Given the description of an element on the screen output the (x, y) to click on. 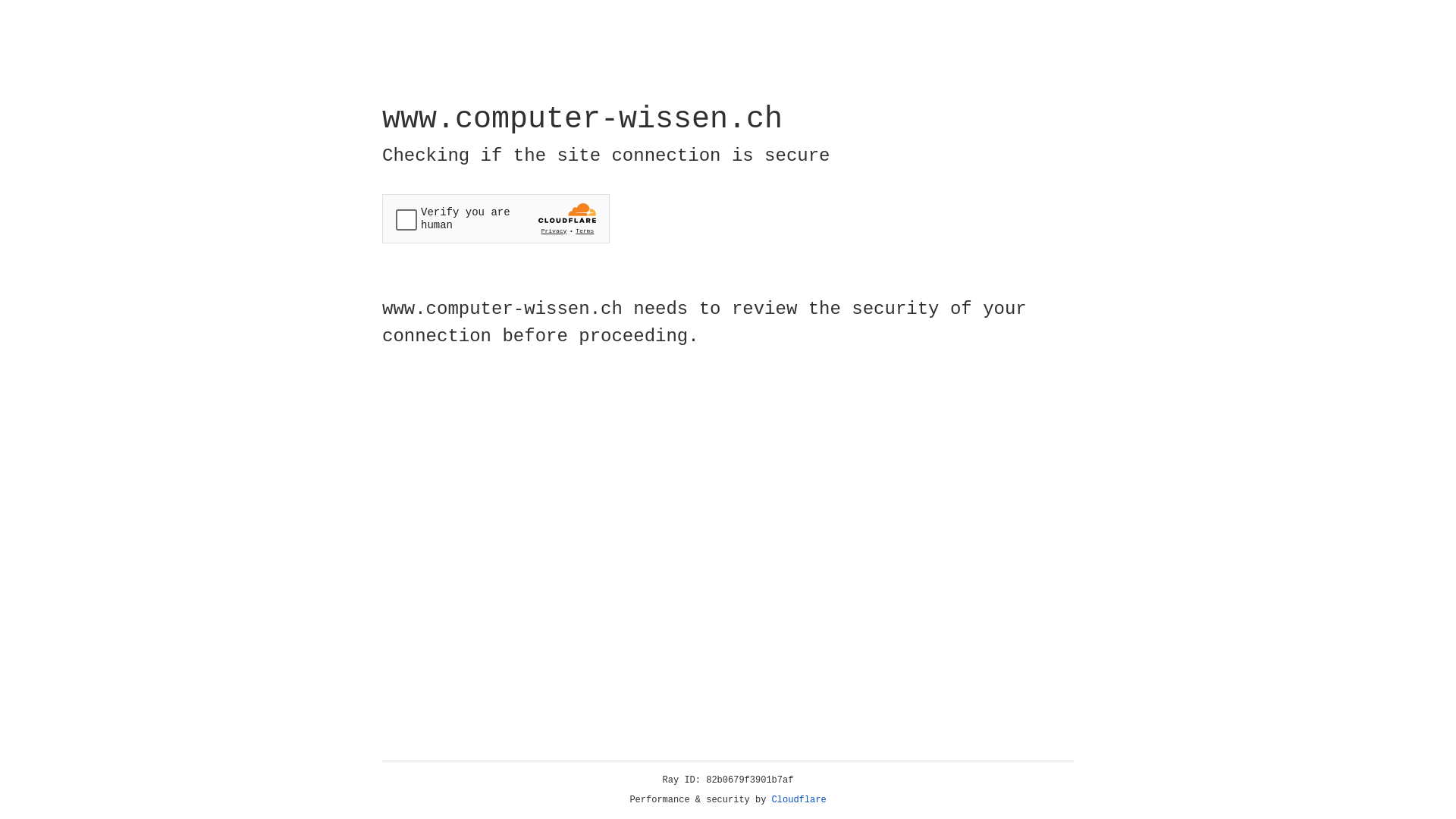
Widget containing a Cloudflare security challenge Element type: hover (495, 218)
Cloudflare Element type: text (798, 799)
